Given the description of an element on the screen output the (x, y) to click on. 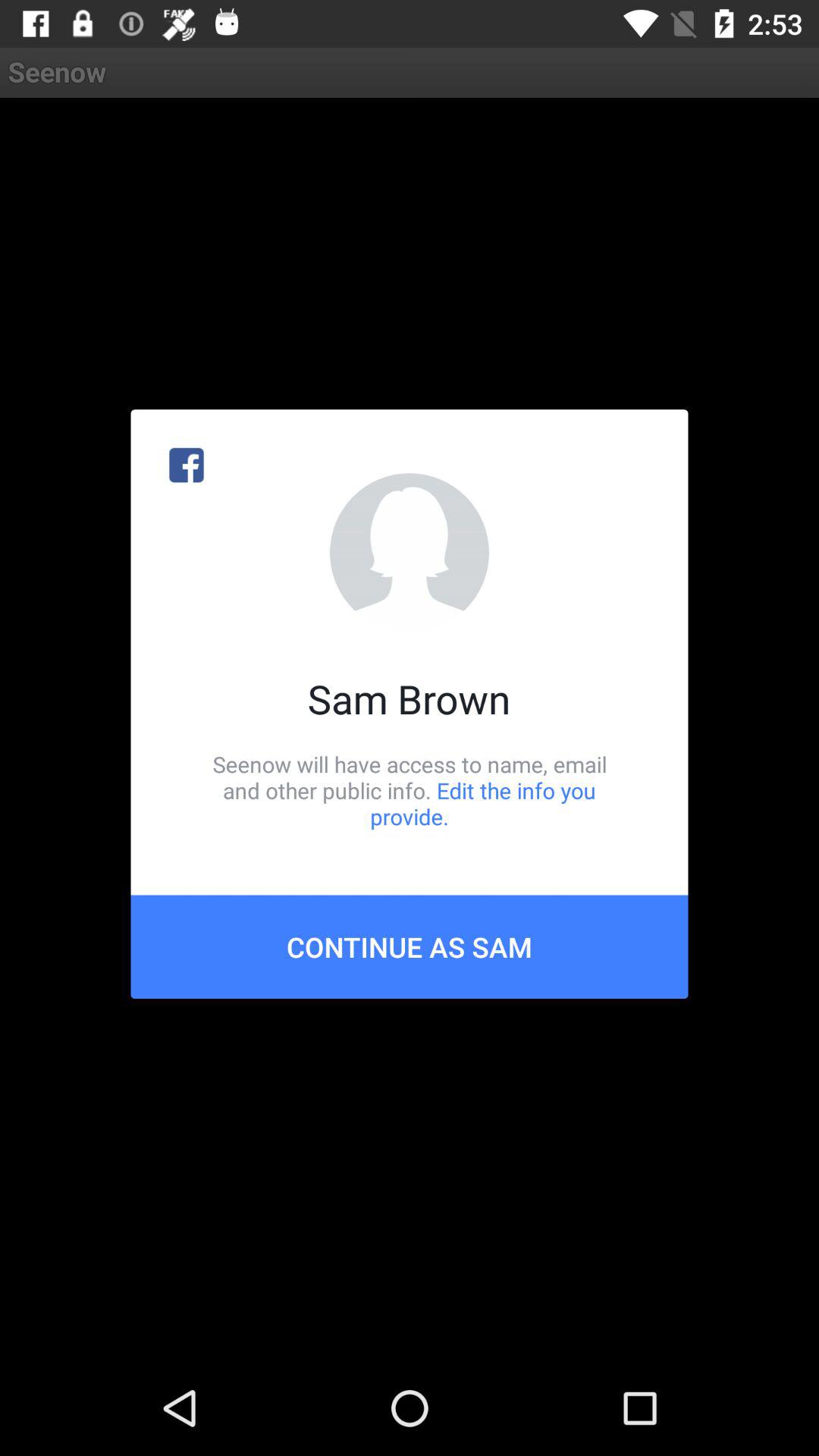
turn off icon below seenow will have (409, 946)
